Given the description of an element on the screen output the (x, y) to click on. 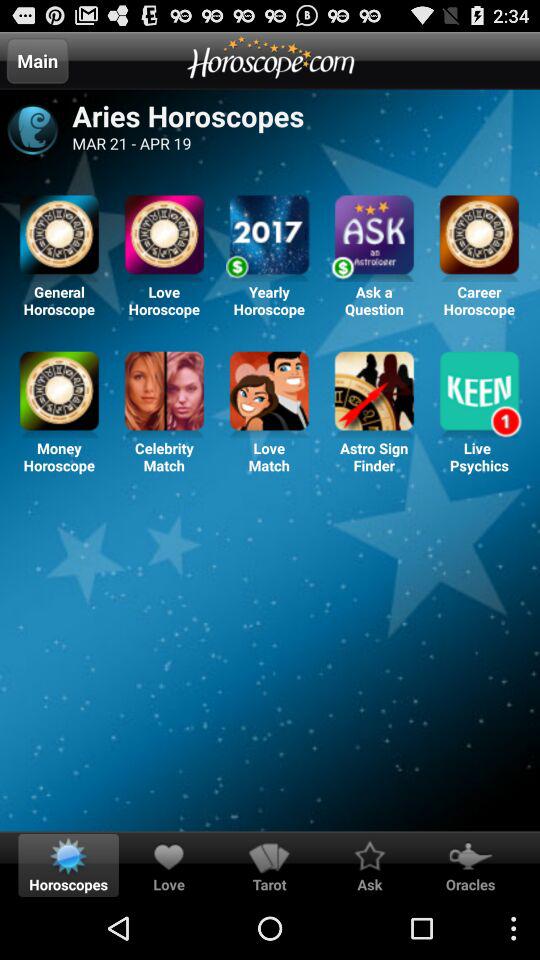
click on the tarot option (269, 856)
click on love horoscope option (163, 238)
click on general horoscope option (59, 238)
select the 4th image from the 1st row (374, 238)
select the last icon (479, 394)
